Given the description of an element on the screen output the (x, y) to click on. 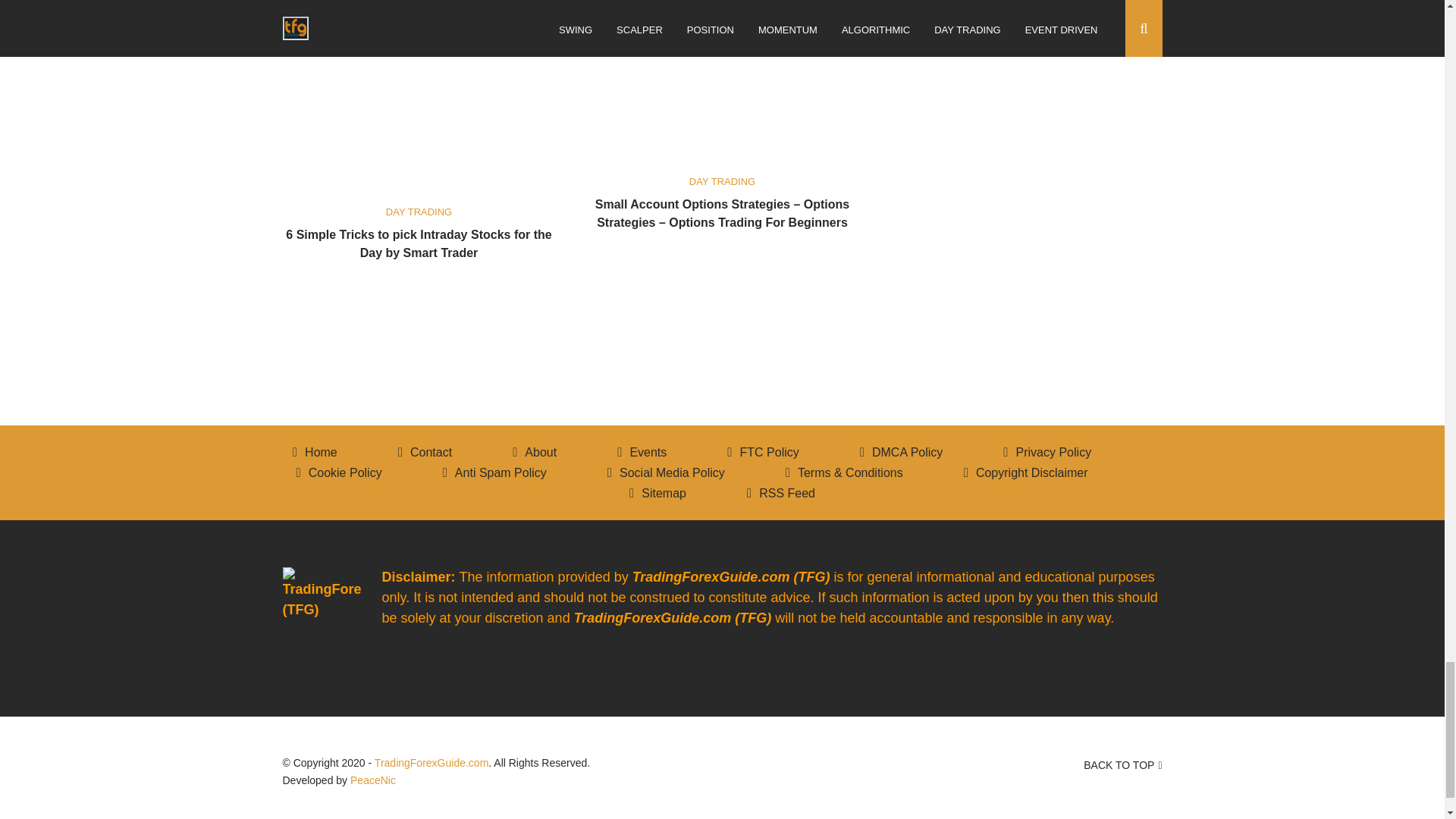
DAY TRADING (721, 181)
DAY TRADING (418, 211)
